Given the description of an element on the screen output the (x, y) to click on. 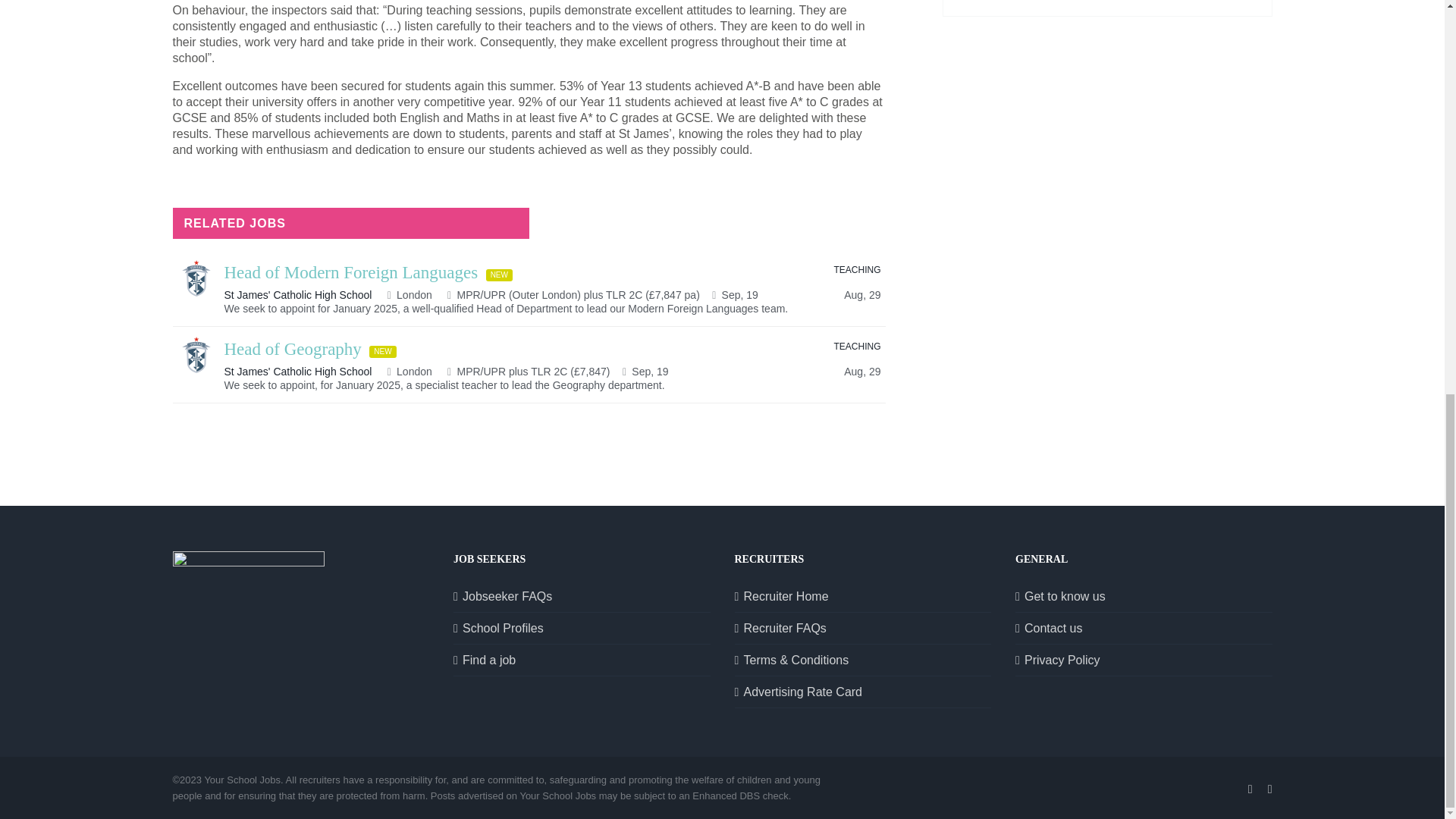
Find a job (583, 659)
School Profiles (583, 627)
Recruiter FAQs (863, 627)
Recruiter Home (863, 596)
Jobseeker FAQs (583, 596)
Head of Geography (292, 349)
Head of Modern Foreign Languages (351, 272)
